Given the description of an element on the screen output the (x, y) to click on. 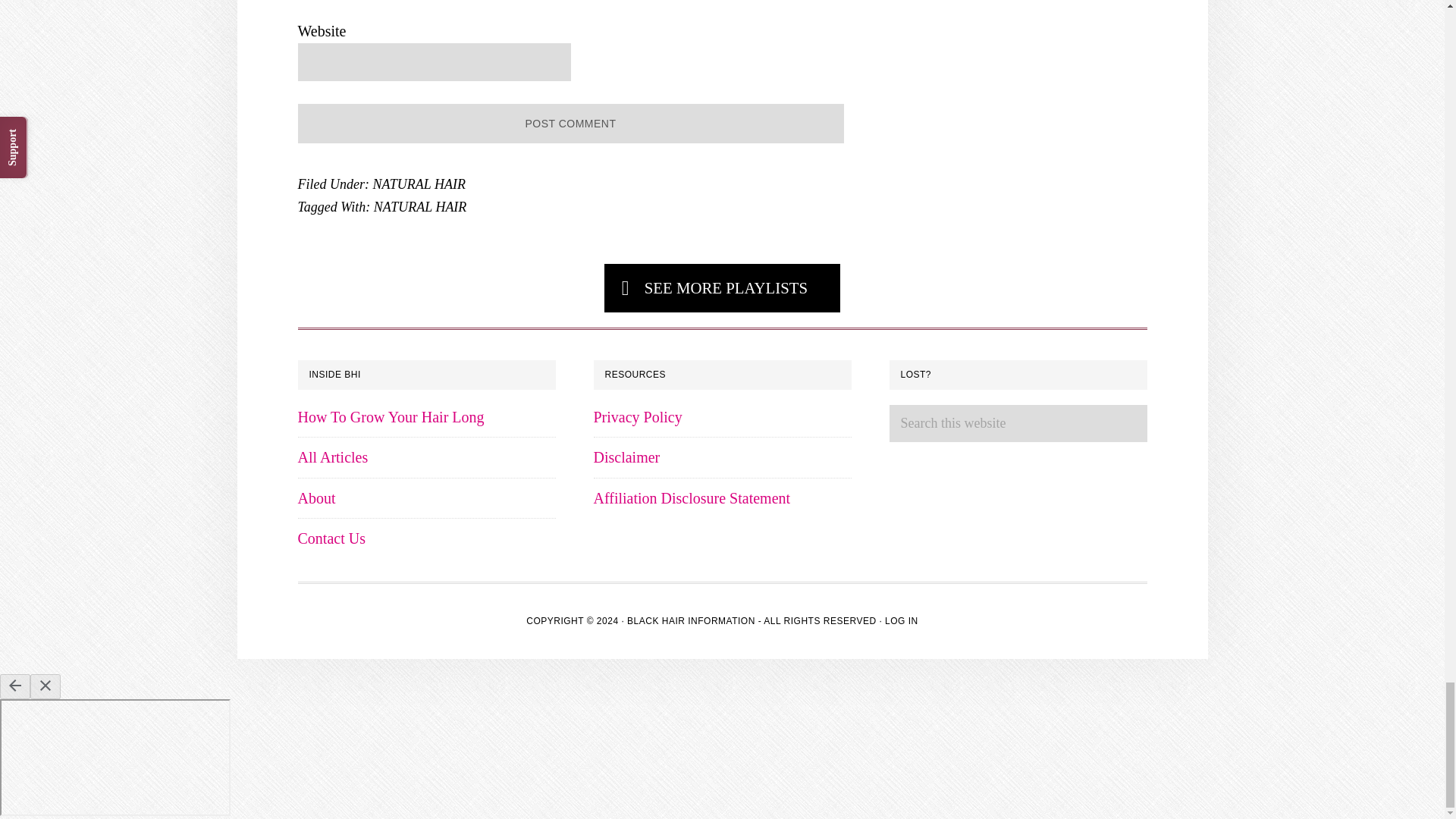
Post Comment (570, 124)
